Given the description of an element on the screen output the (x, y) to click on. 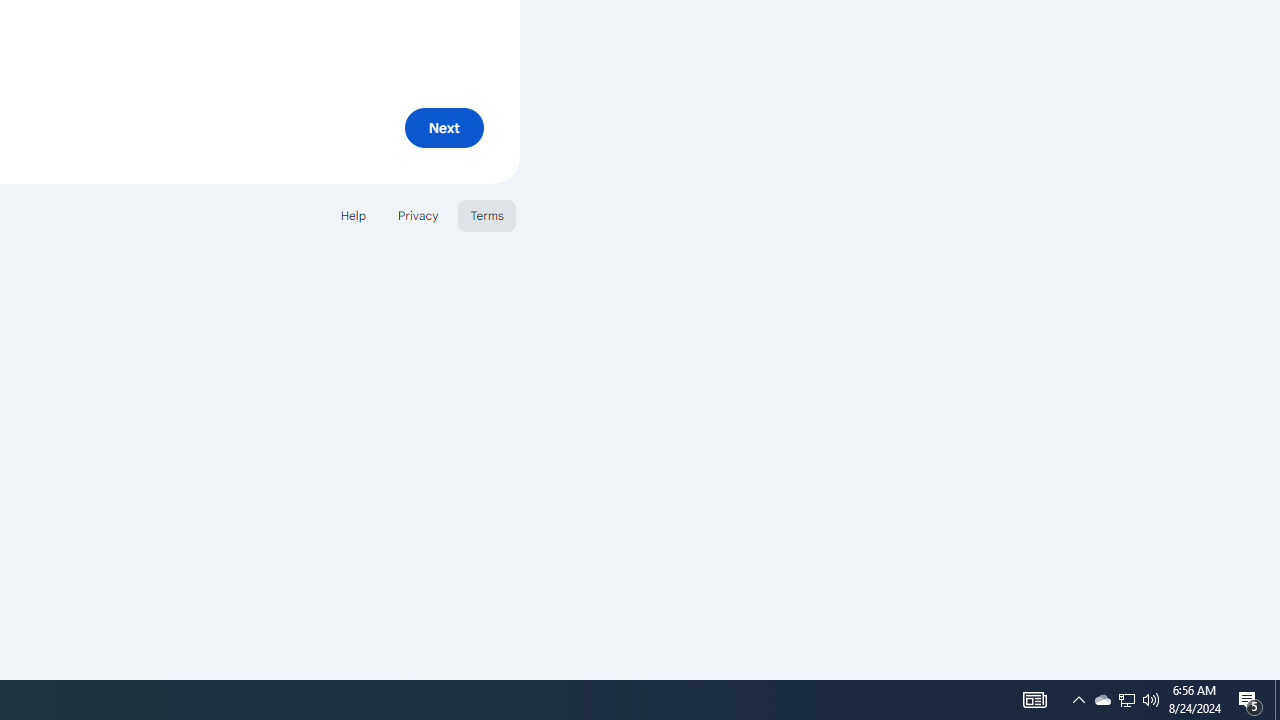
Next (443, 127)
